Given the description of an element on the screen output the (x, y) to click on. 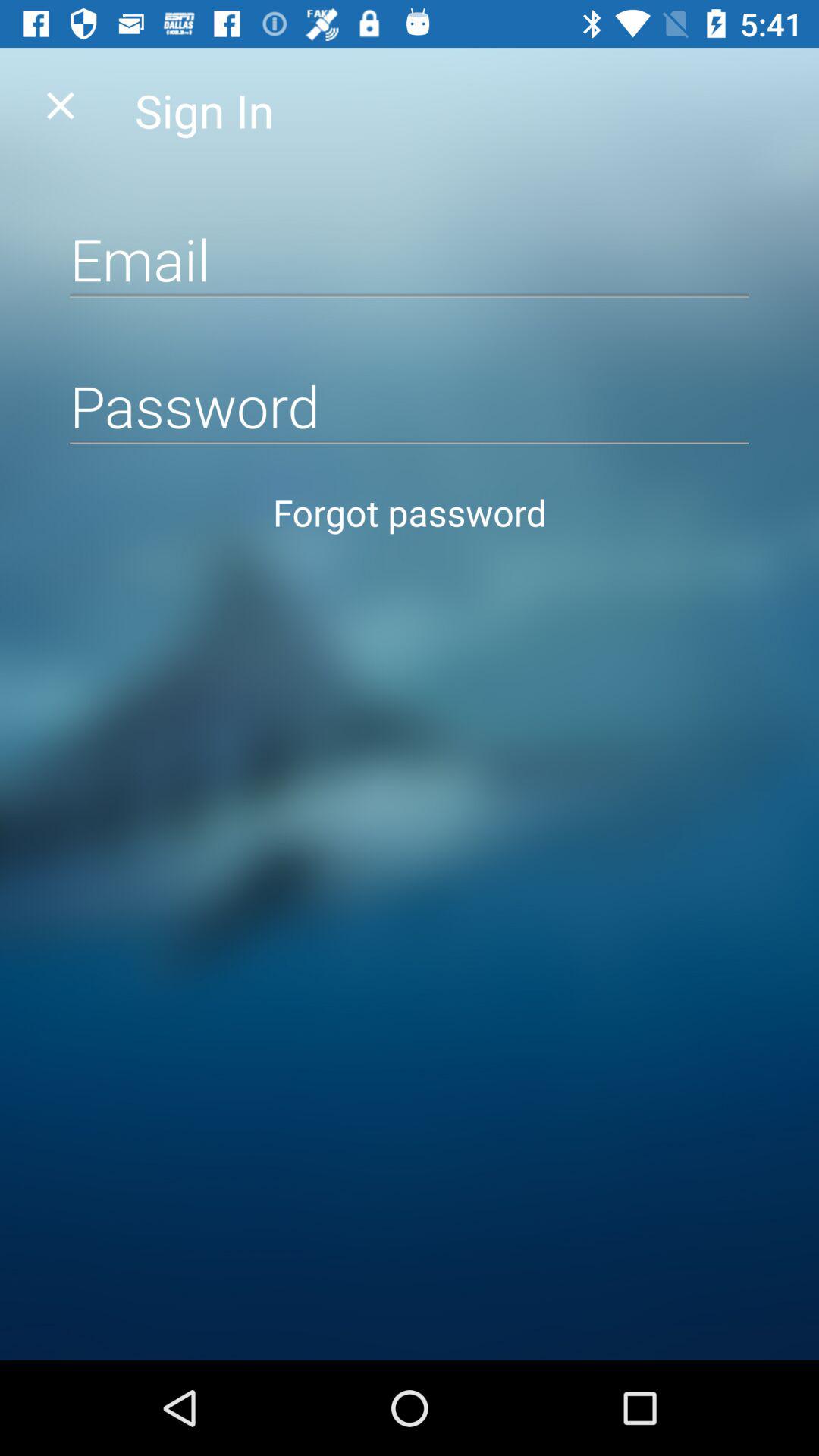
type password (409, 405)
